Given the description of an element on the screen output the (x, y) to click on. 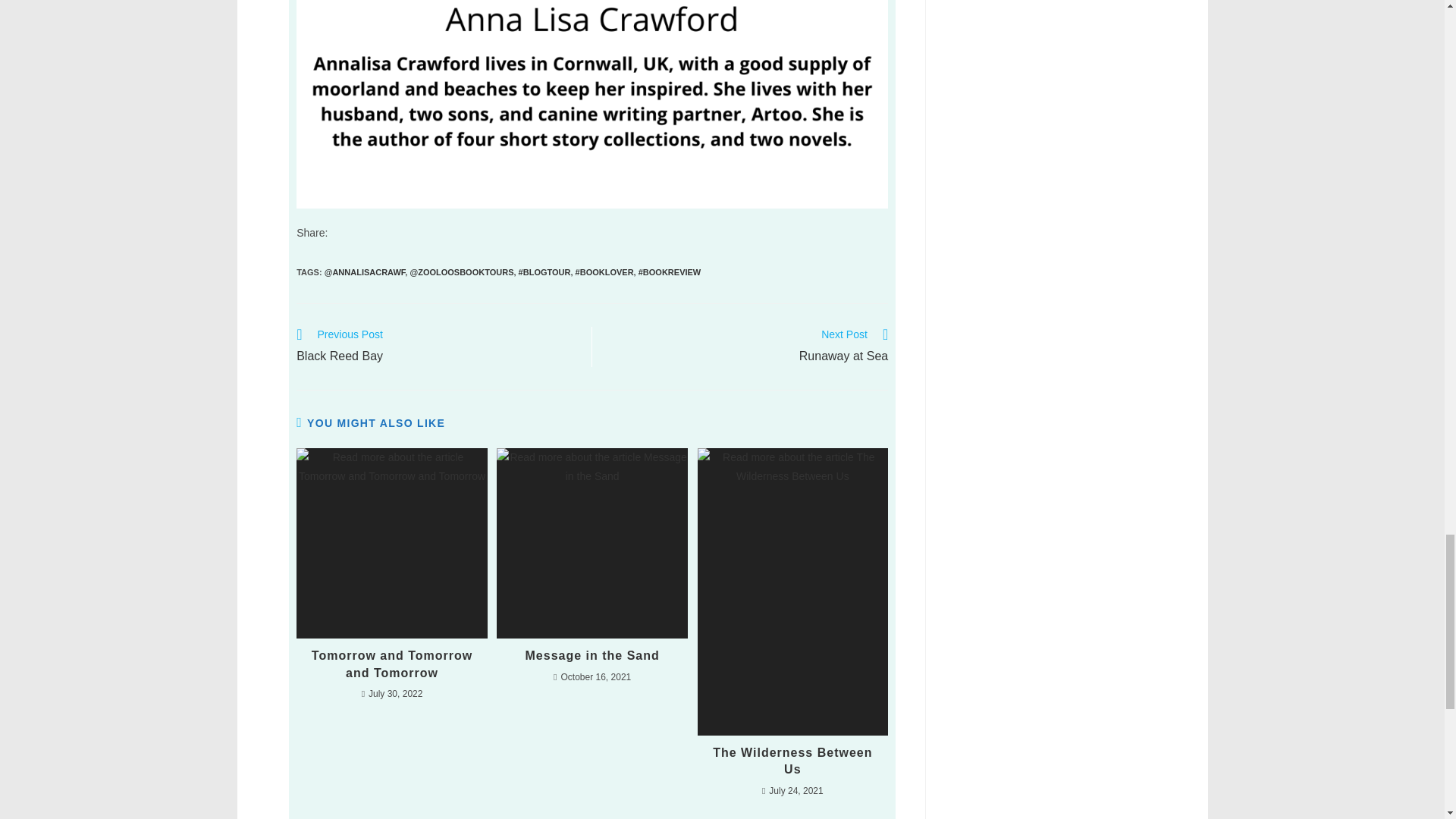
Message in the Sand (591, 655)
Tomorrow and Tomorrow and Tomorrow (436, 346)
